Given the description of an element on the screen output the (x, y) to click on. 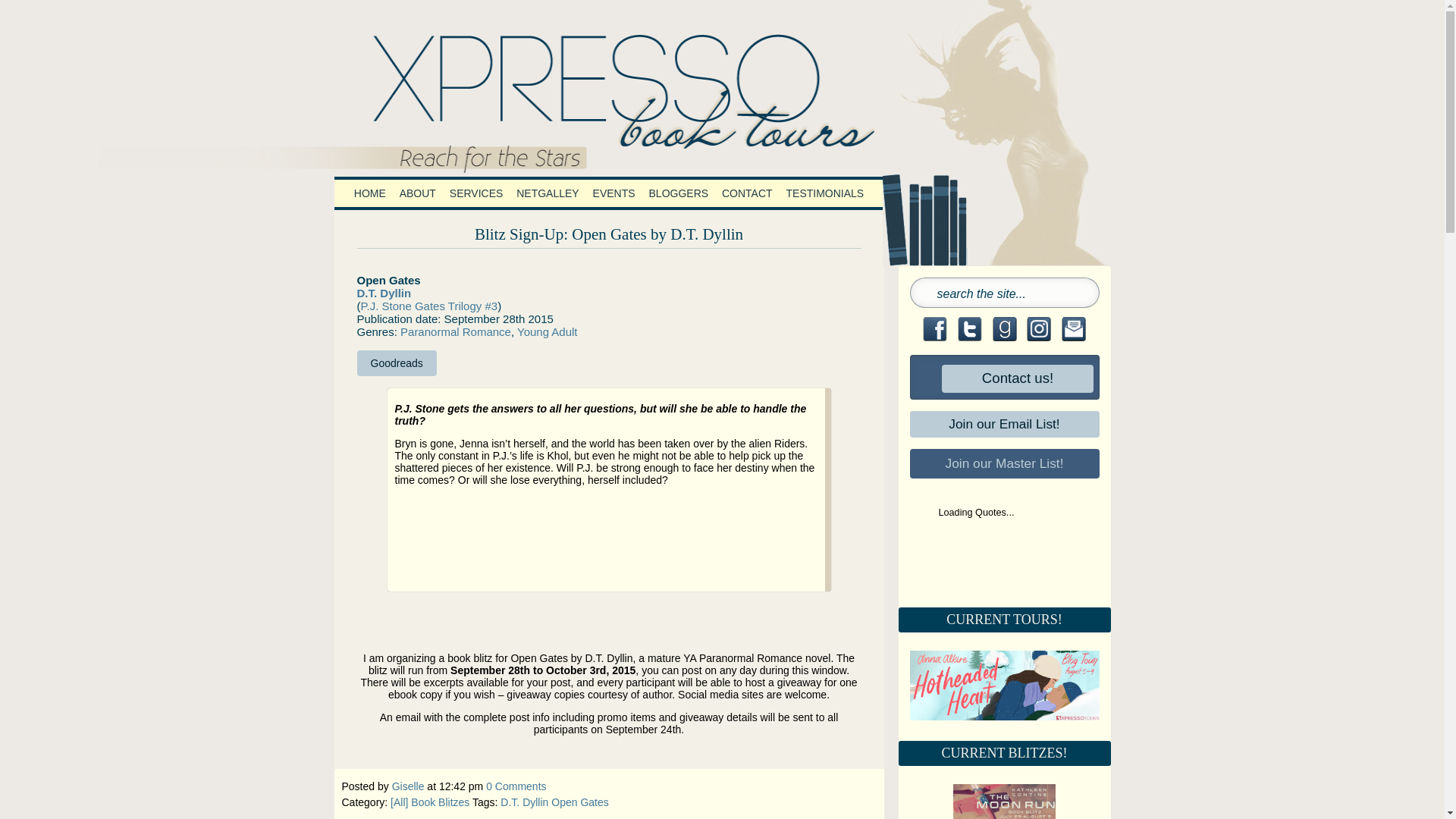
Join our Master List! (1004, 463)
ABOUT (417, 193)
Join our Email List! (1004, 423)
Paranormal Romance (455, 331)
D.T. Dyllin (383, 292)
0 Comments (516, 786)
BLOGGERS (678, 193)
D.T. Dyllin (524, 802)
SERVICES (476, 193)
HOME (370, 193)
EVENTS (614, 193)
Young Adult (547, 331)
Goodreads (395, 362)
NETGALLEY (547, 193)
Contact us! (1002, 378)
